Given the description of an element on the screen output the (x, y) to click on. 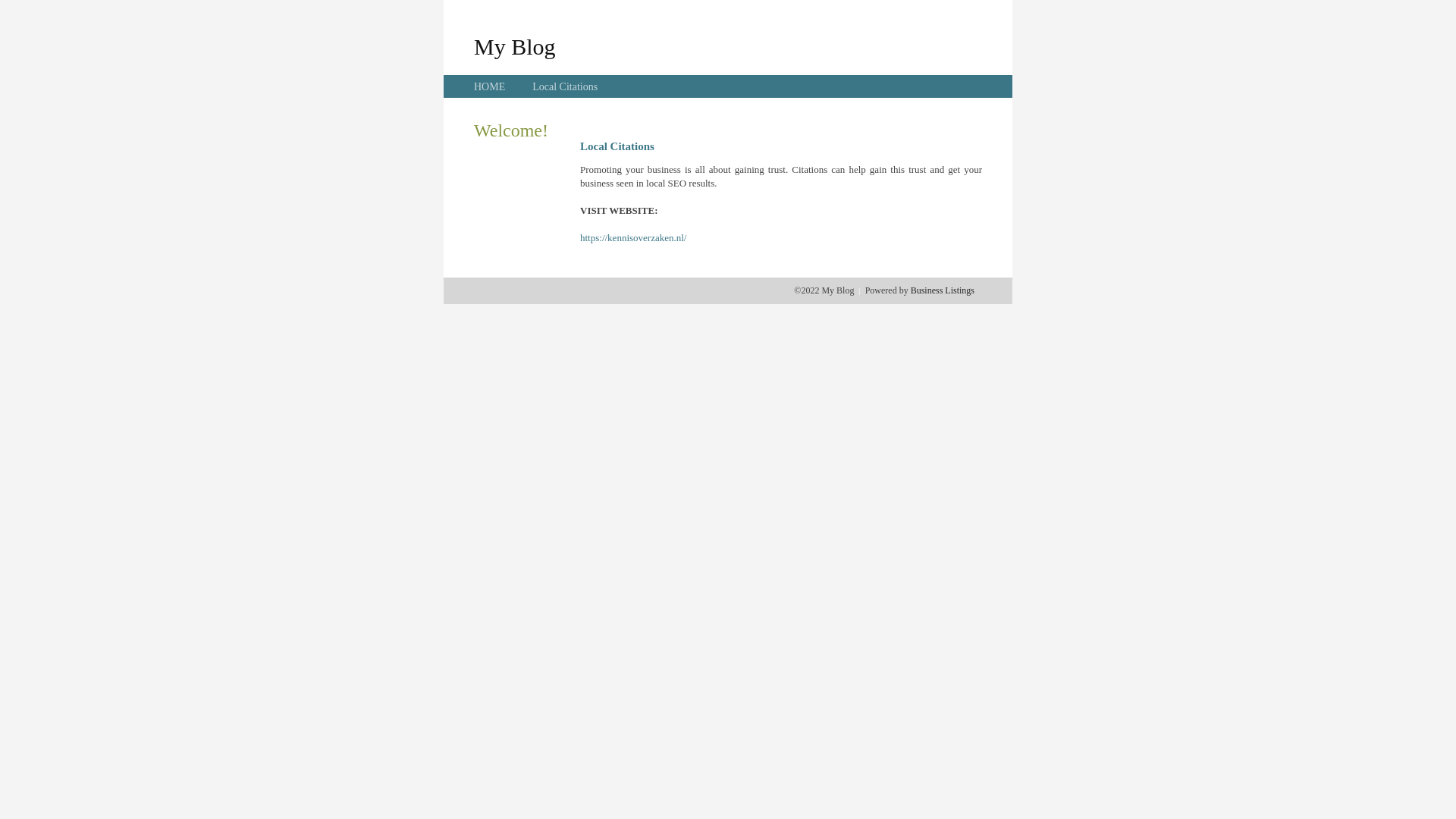
HOME Element type: text (489, 86)
Business Listings Element type: text (942, 290)
https://kennisoverzaken.nl/ Element type: text (633, 237)
My Blog Element type: text (514, 46)
Local Citations Element type: text (564, 86)
